Given the description of an element on the screen output the (x, y) to click on. 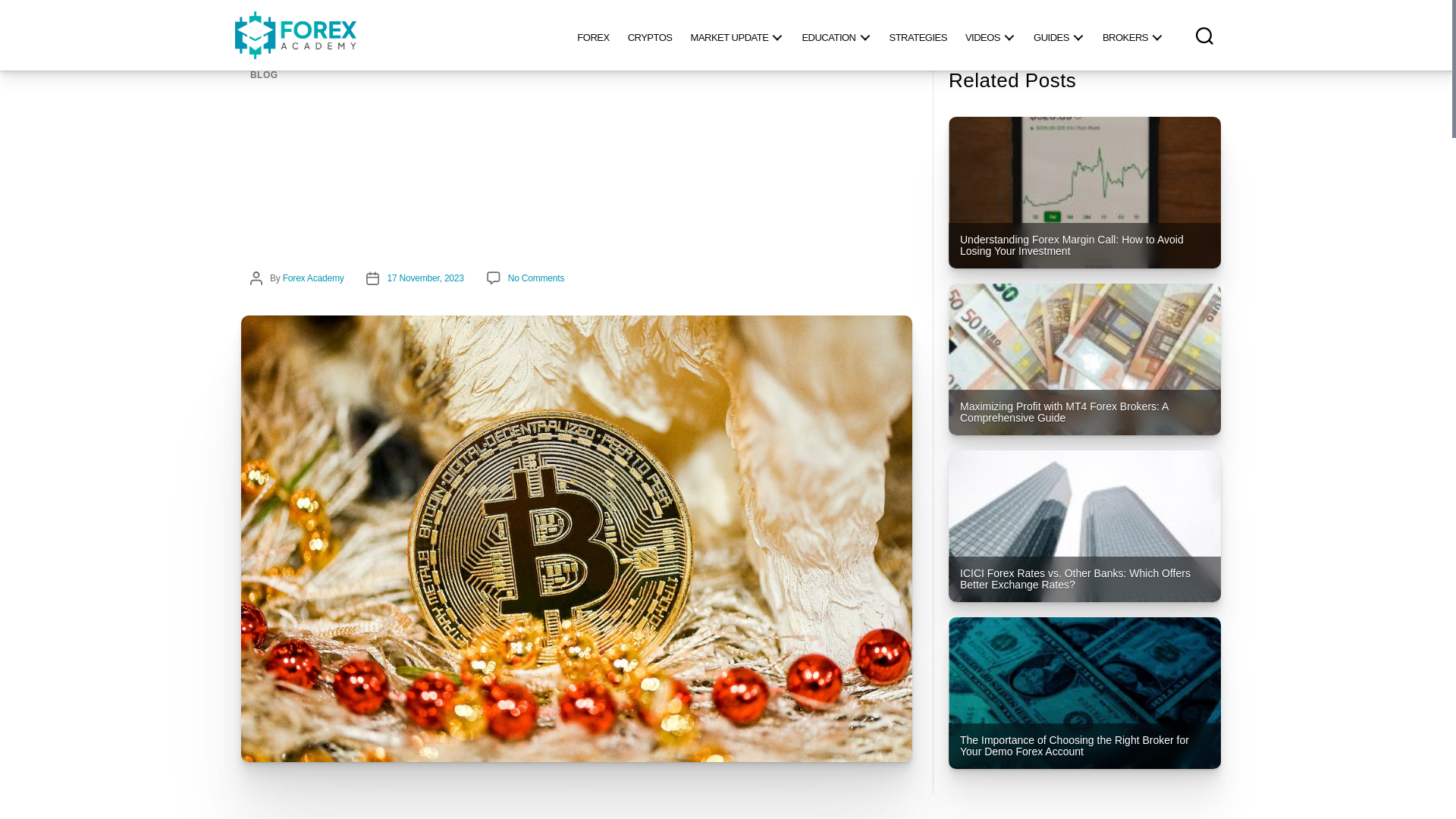
MARKET UPDATE (737, 35)
GUIDES (1059, 35)
BROKERS (1132, 35)
CRYPTOS (649, 35)
STRATEGIES (917, 35)
EDUCATION (835, 35)
VIDEOS (990, 35)
